Given the description of an element on the screen output the (x, y) to click on. 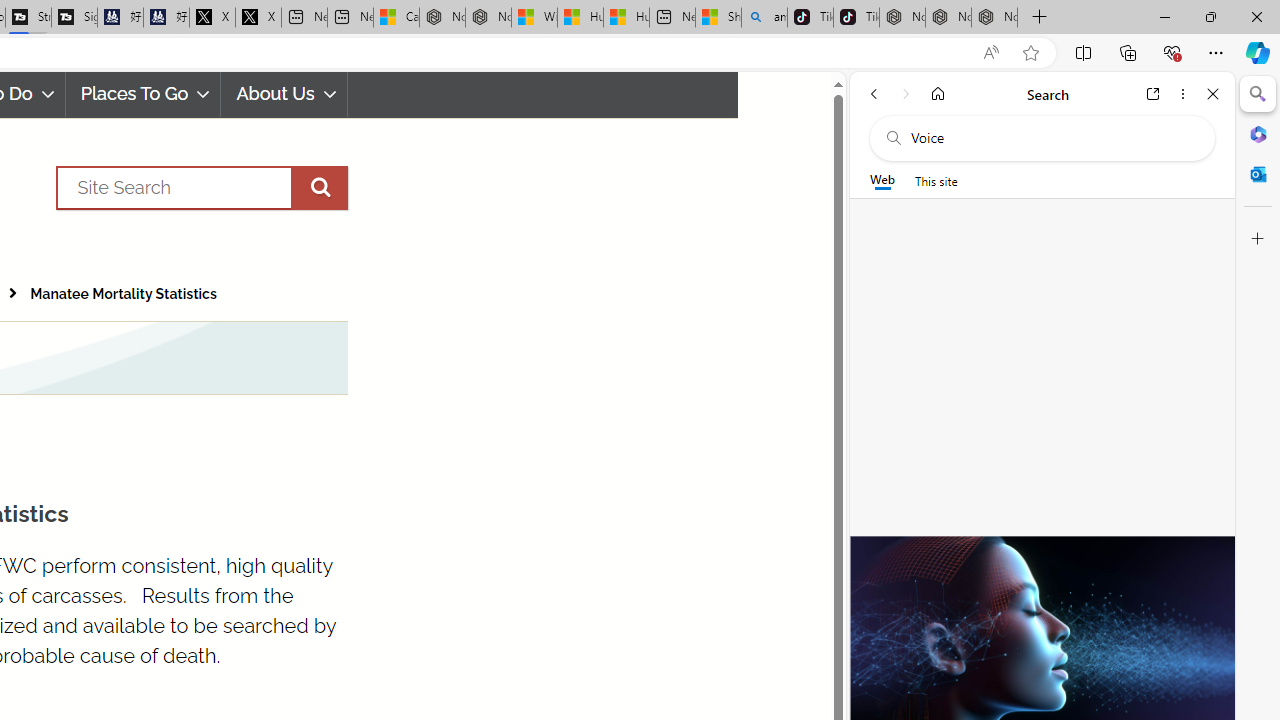
Browser essentials (1171, 52)
Outlook (1258, 174)
Nordace - Summer Adventures 2024 (487, 17)
Add this page to favorites (Ctrl+D) (1030, 53)
Nordace - Siena Pro 15 Essential Set (994, 17)
execute site search (319, 187)
Manatee Mortality Statistics (123, 294)
About Us (284, 94)
Shanghai, China hourly forecast | Microsoft Weather (718, 17)
Places To Go (143, 94)
Search the web (1051, 137)
Wildlife - MSN (534, 17)
Places To Go (143, 94)
X (258, 17)
